Given the description of an element on the screen output the (x, y) to click on. 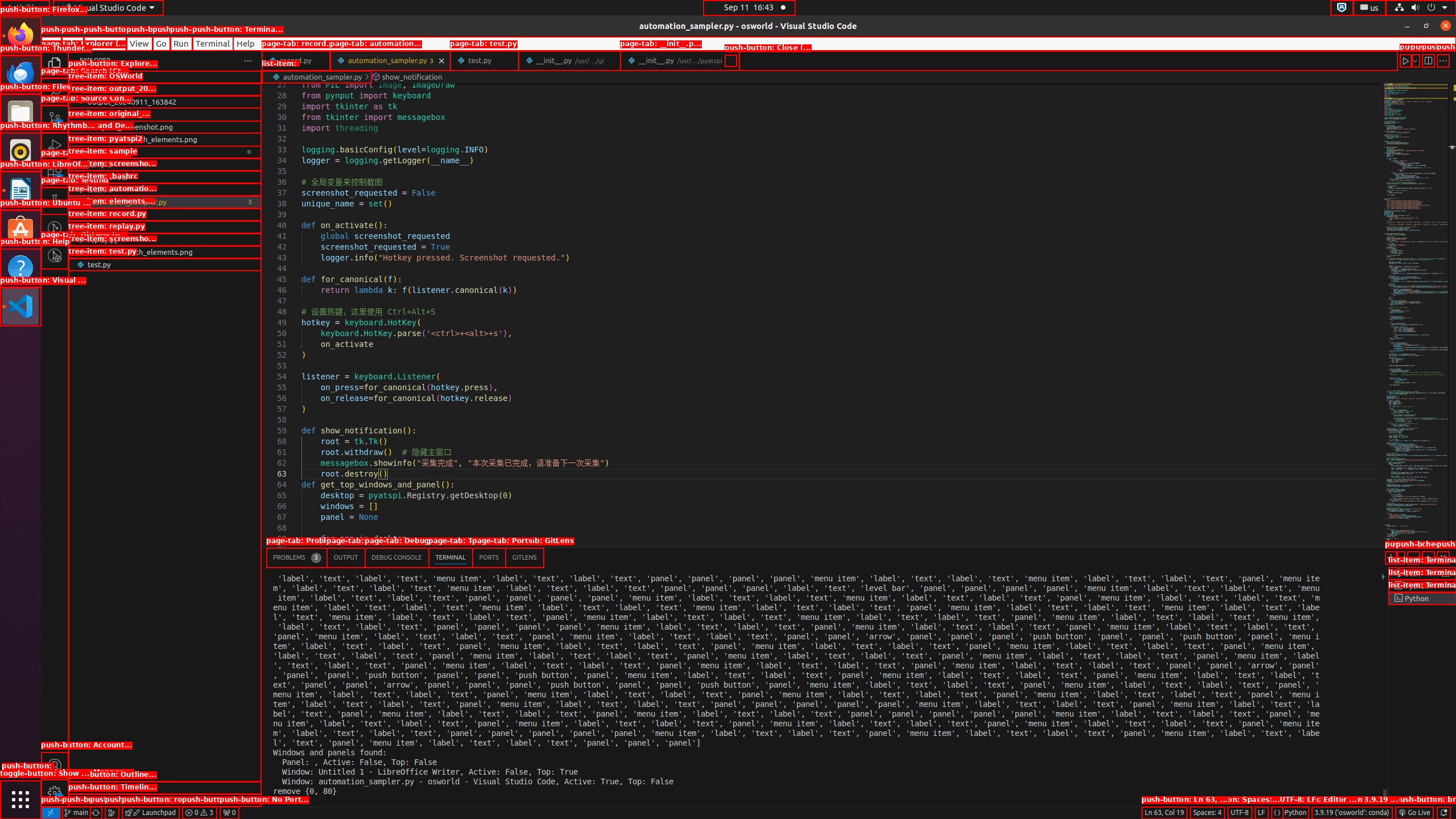
:1.21/StatusNotifierItem Element type: menu (1369, 7)
automation_sampler.py Element type: tree-item (164, 201)
File Element type: push-button (50, 43)
OSWorld Element type: tree-item (164, 89)
